Given the description of an element on the screen output the (x, y) to click on. 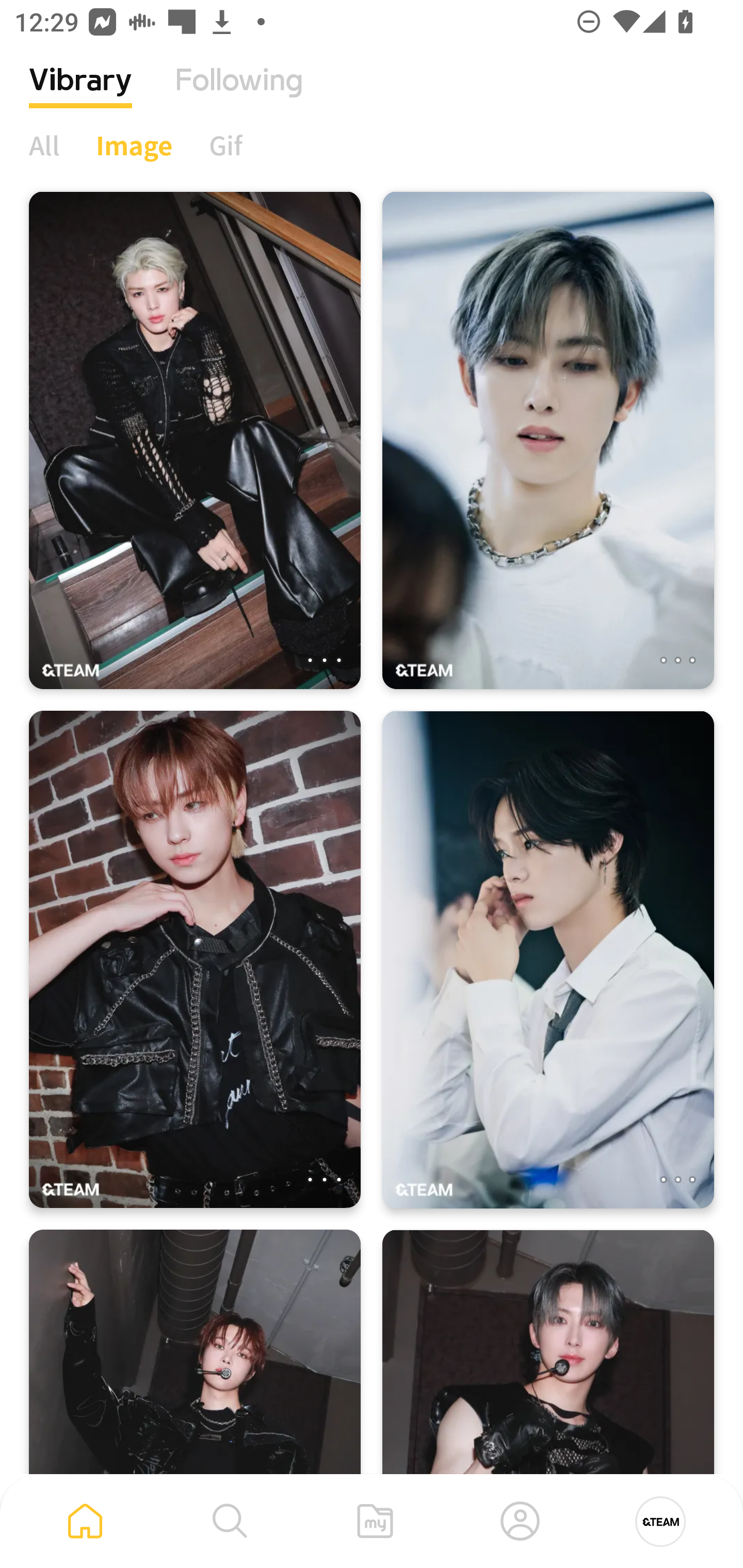
Vibrary (80, 95)
Following (239, 95)
All (44, 145)
Image (134, 145)
Gif (225, 145)
